Given the description of an element on the screen output the (x, y) to click on. 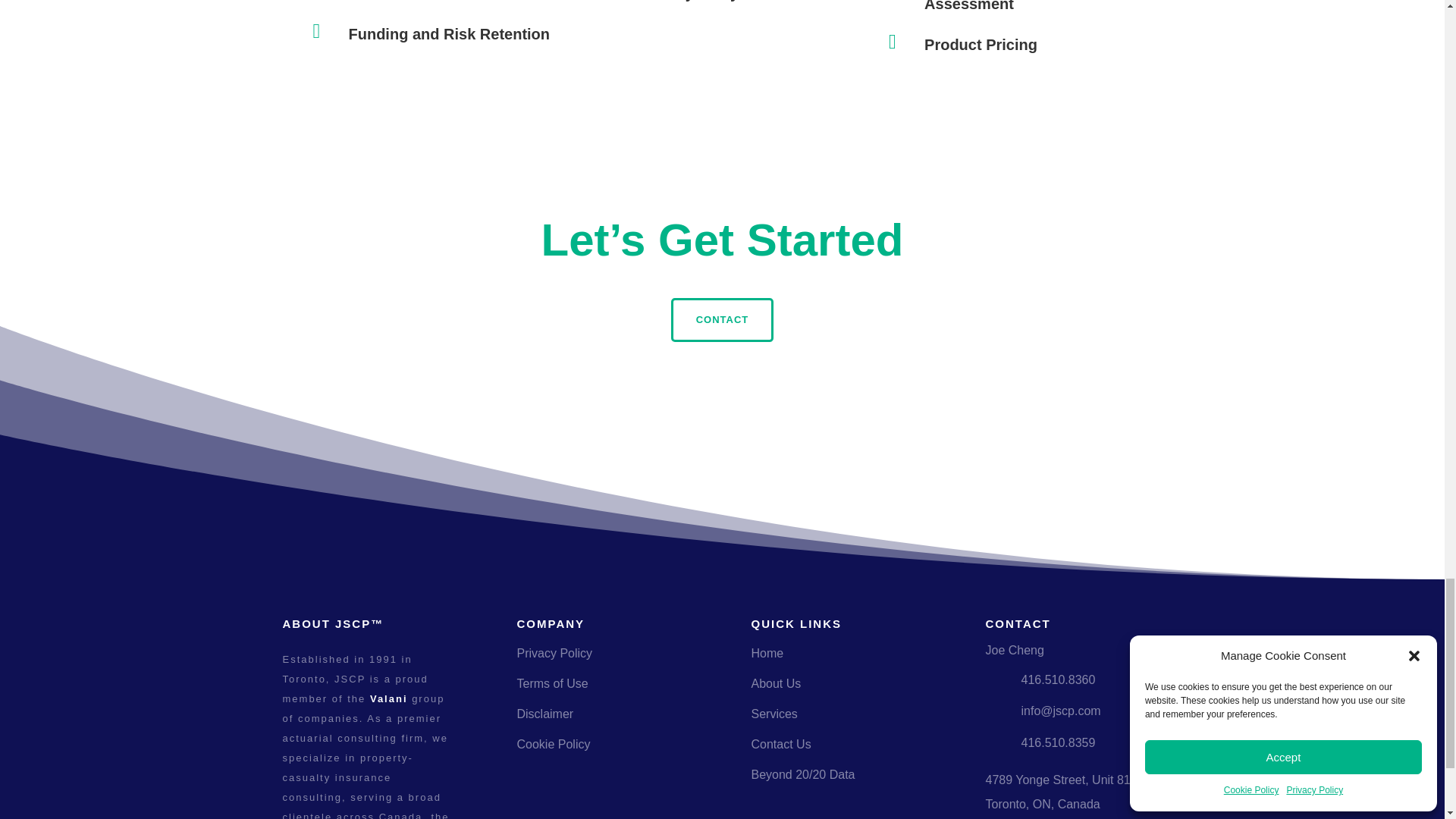
Terms of Use (552, 683)
CONTACT (722, 320)
Home (767, 653)
Valani (388, 698)
Privacy Policy (554, 653)
Disclaimer (544, 713)
Cookie Policy (553, 744)
